Given the description of an element on the screen output the (x, y) to click on. 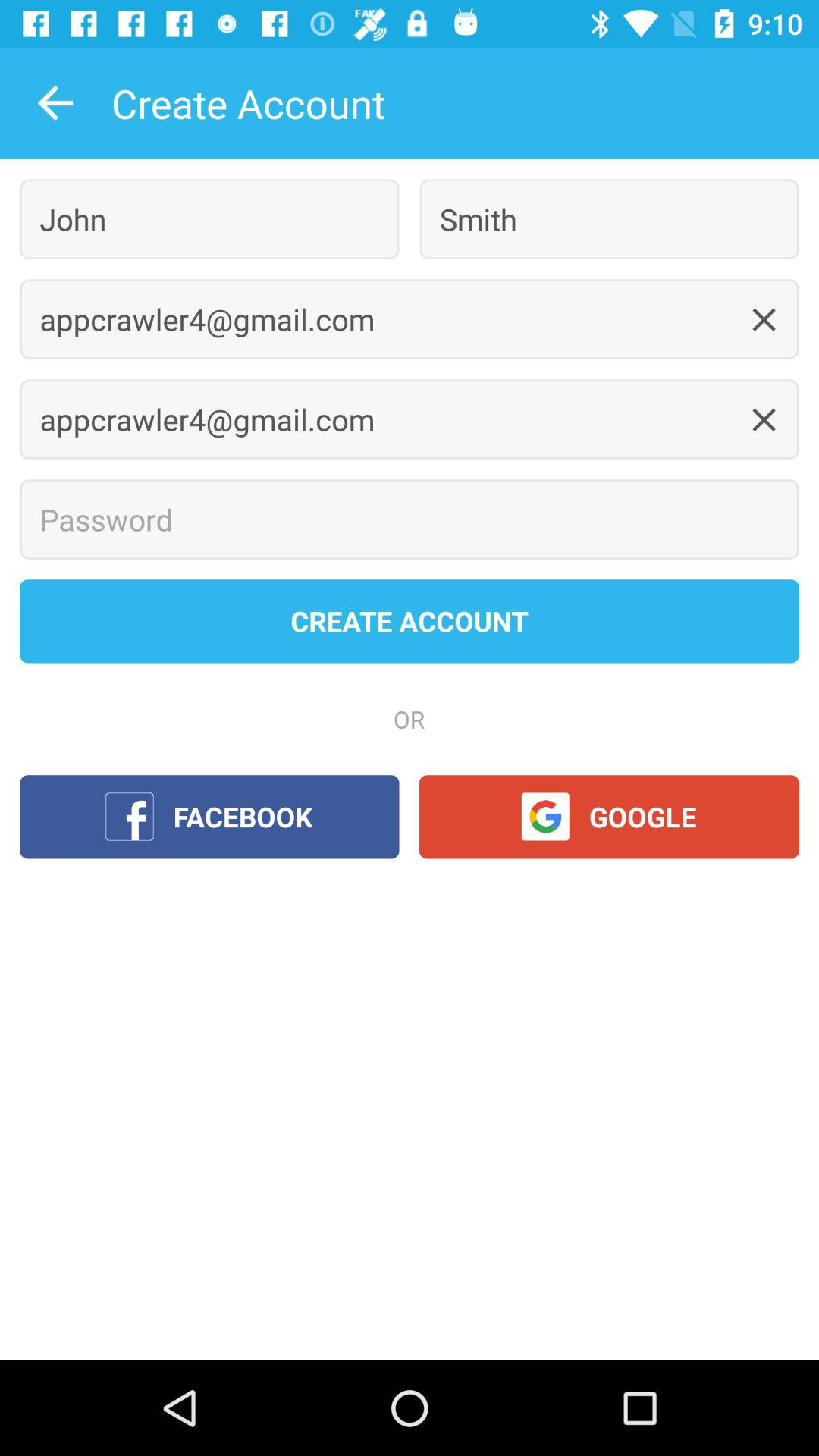
open icon next to the create account icon (55, 103)
